Given the description of an element on the screen output the (x, y) to click on. 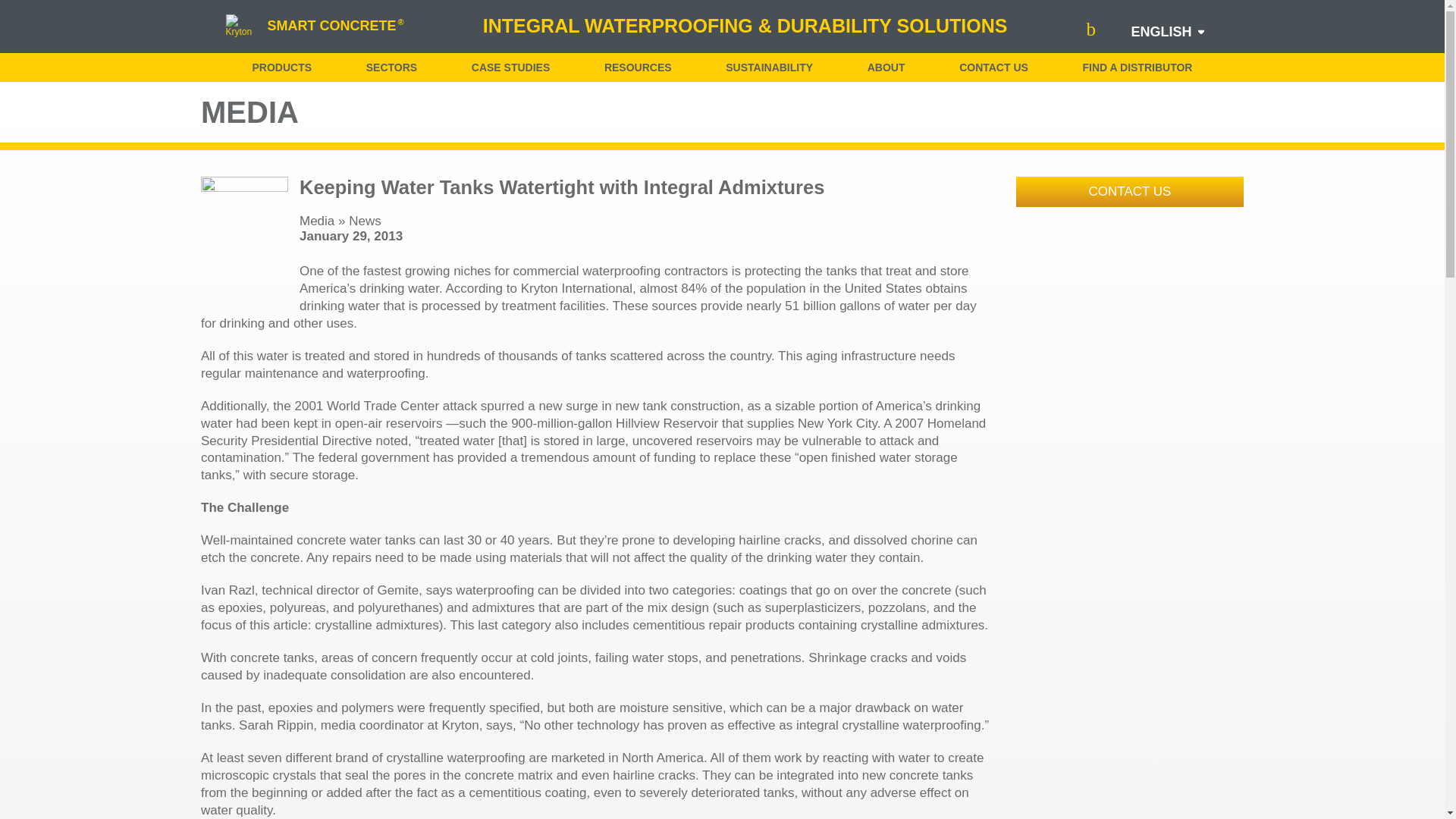
PRODUCTS (281, 67)
News (365, 221)
SECTORS (391, 67)
RESOURCES (637, 67)
Kryton (242, 25)
CASE STUDIES (510, 67)
ENGLISH (1161, 31)
